Given the description of an element on the screen output the (x, y) to click on. 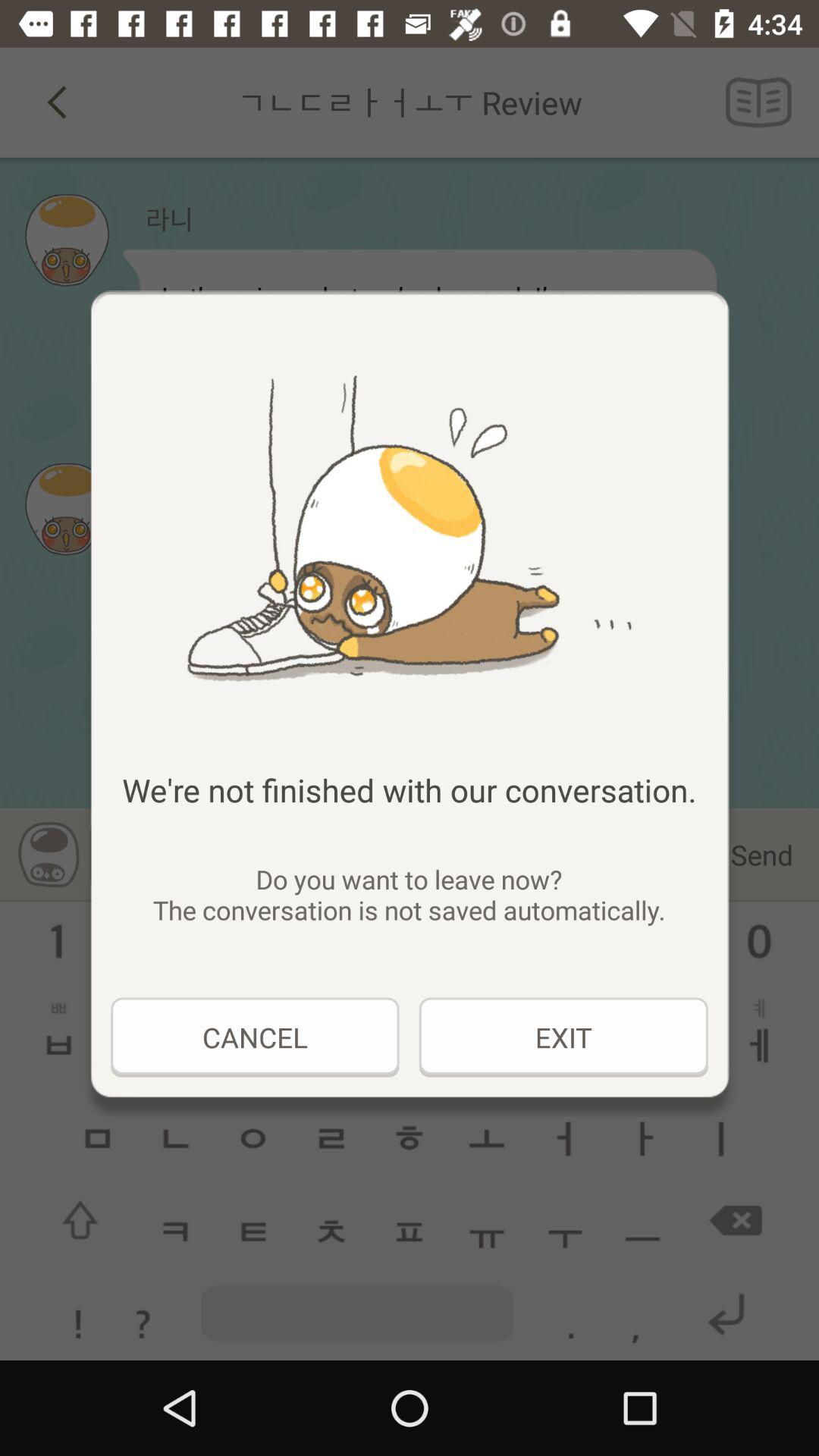
tap the item next to the cancel item (563, 1037)
